Given the description of an element on the screen output the (x, y) to click on. 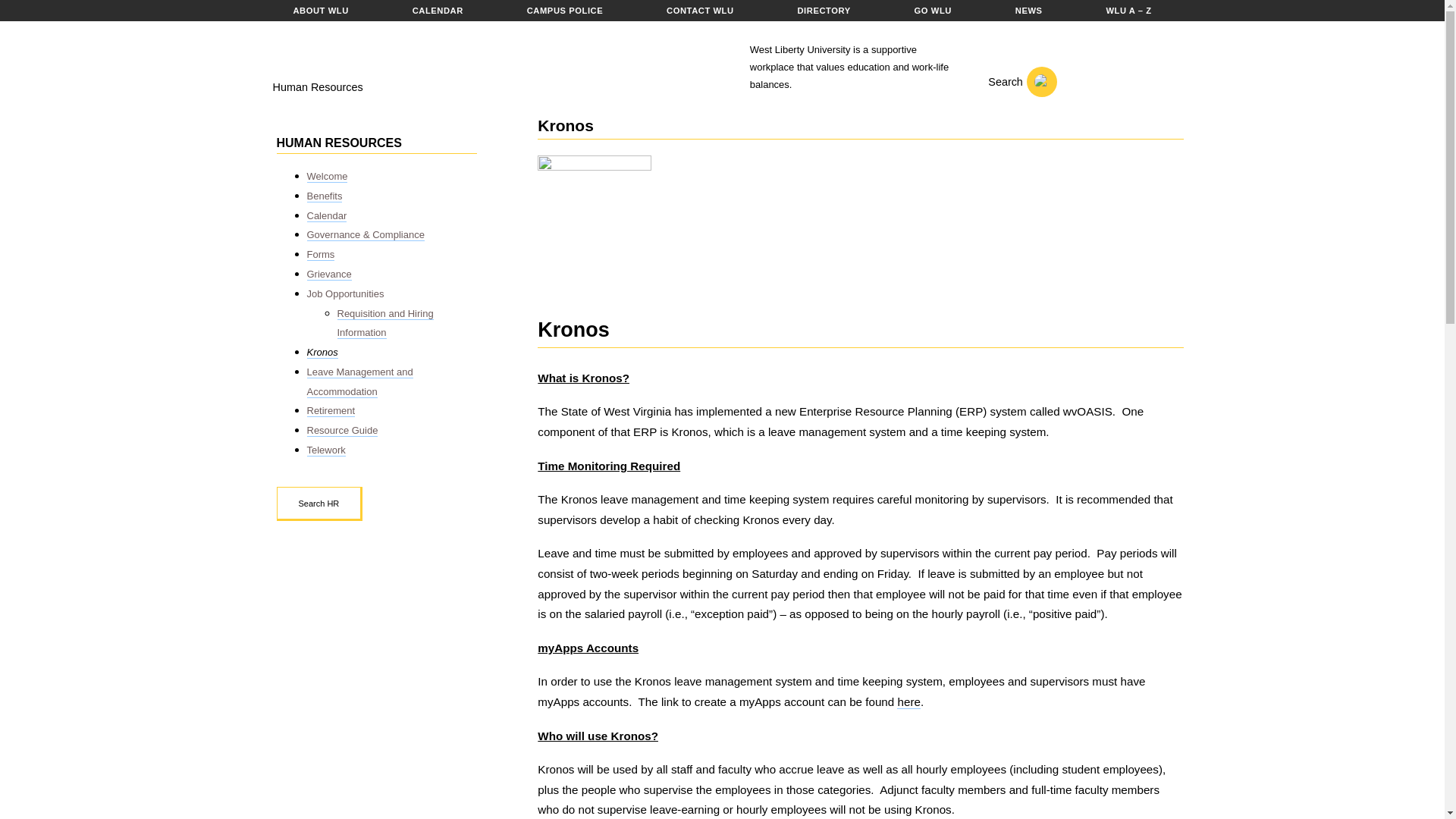
CALENDAR (437, 10)
Calendar (325, 215)
Leave Management and Accommodation (358, 382)
Search (1013, 81)
Kronos (321, 352)
NEWS (1029, 10)
Search HR (319, 503)
Grievance (327, 274)
here (908, 702)
Job Opportunities (344, 293)
